Given the description of an element on the screen output the (x, y) to click on. 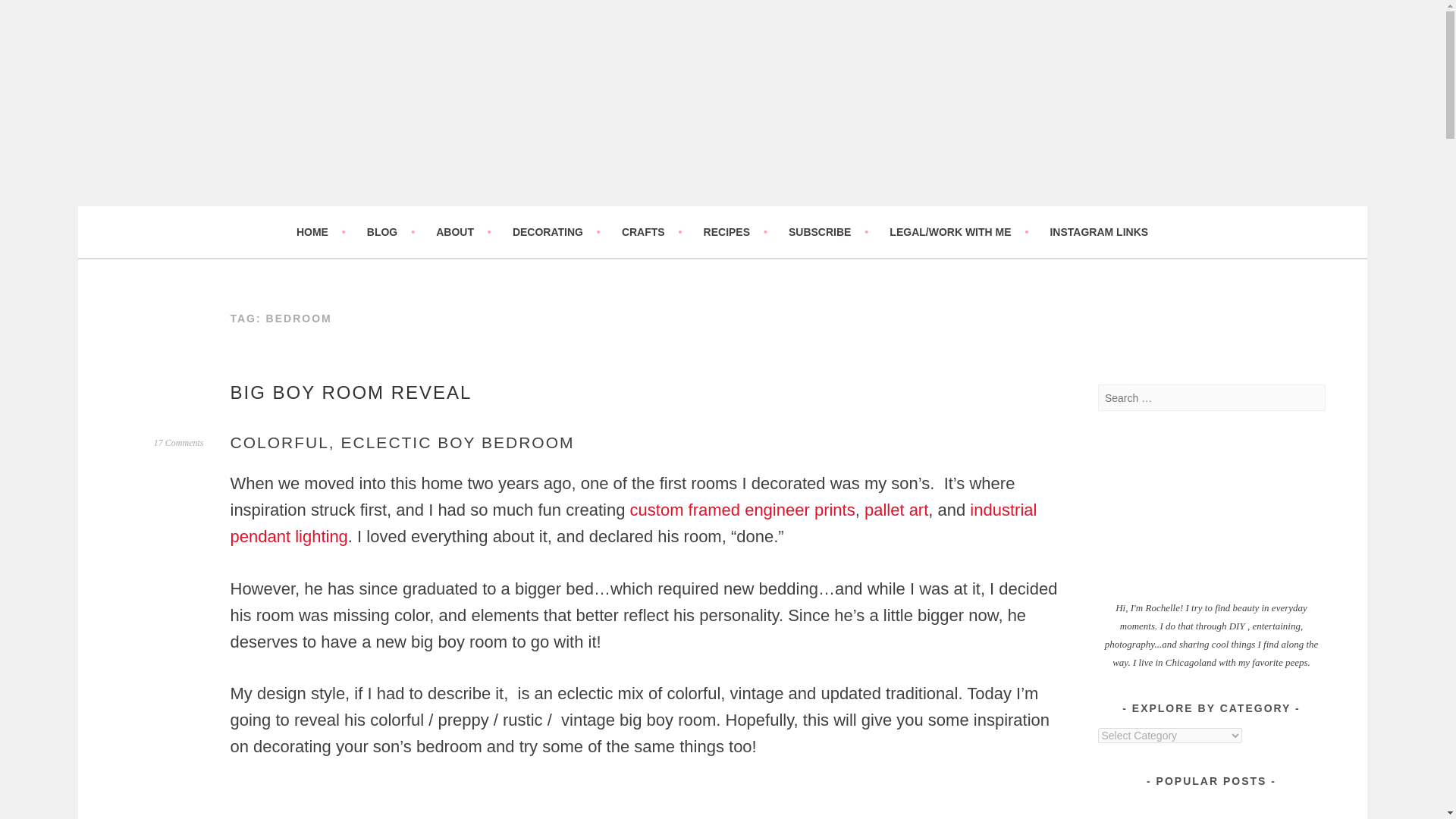
15 Genius Way to Upcycle Vintage Books (1153, 809)
custom framed engineer prints (743, 509)
ABOUT (463, 231)
HOME (321, 231)
BLOG (390, 231)
pallet art (896, 509)
BIG BOY ROOM REVEAL (350, 392)
Five Marigolds (264, 214)
17 Comments (178, 442)
Sew Pajama Pants from Vintage Sheets (1268, 809)
INSTAGRAM LINKS (1098, 231)
industrial pendant lighting (633, 523)
CRAFTS (651, 231)
FIVE MARIGOLDS (264, 214)
RECIPES (735, 231)
